Given the description of an element on the screen output the (x, y) to click on. 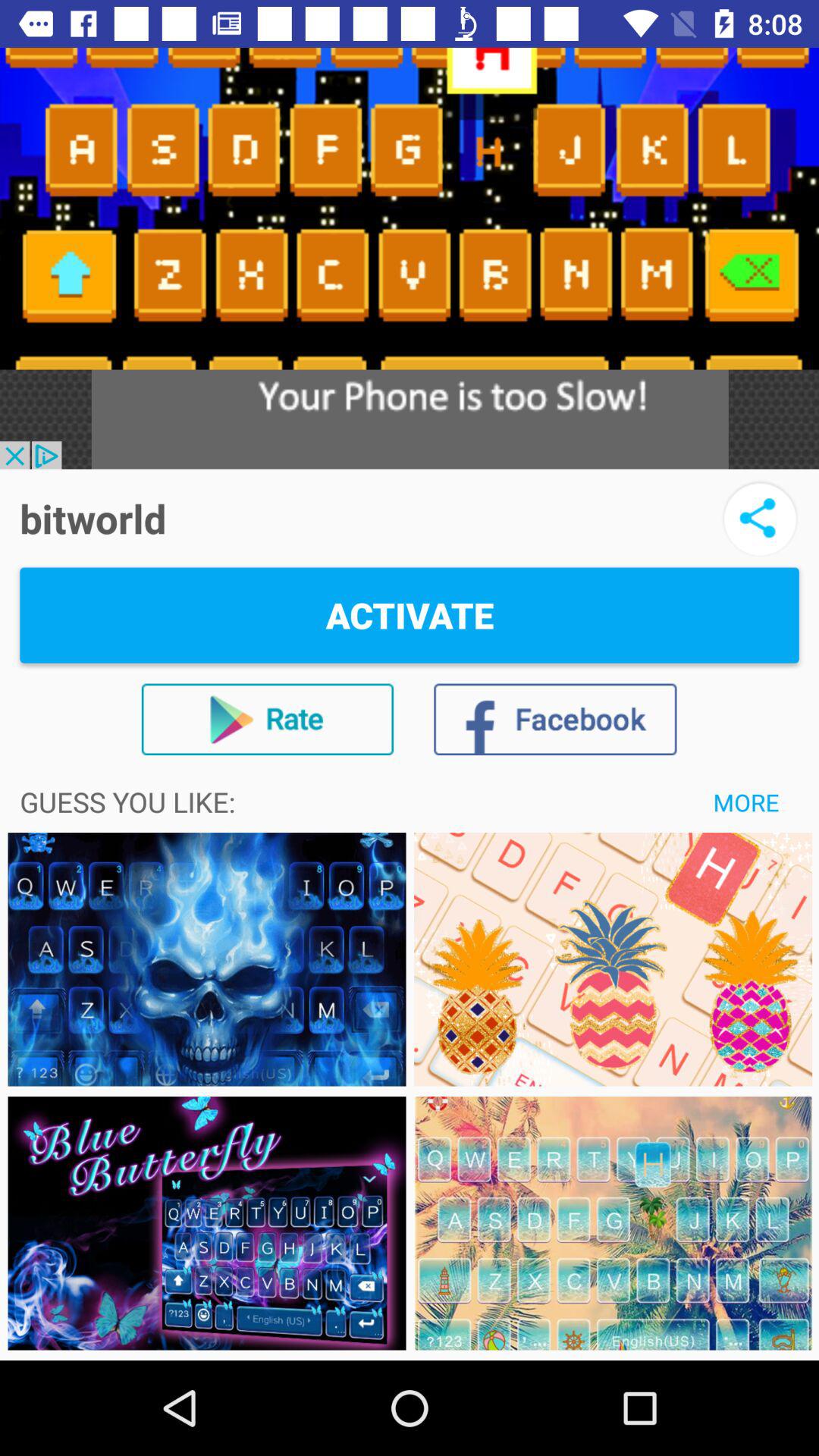
scroll until the more item (746, 801)
